Given the description of an element on the screen output the (x, y) to click on. 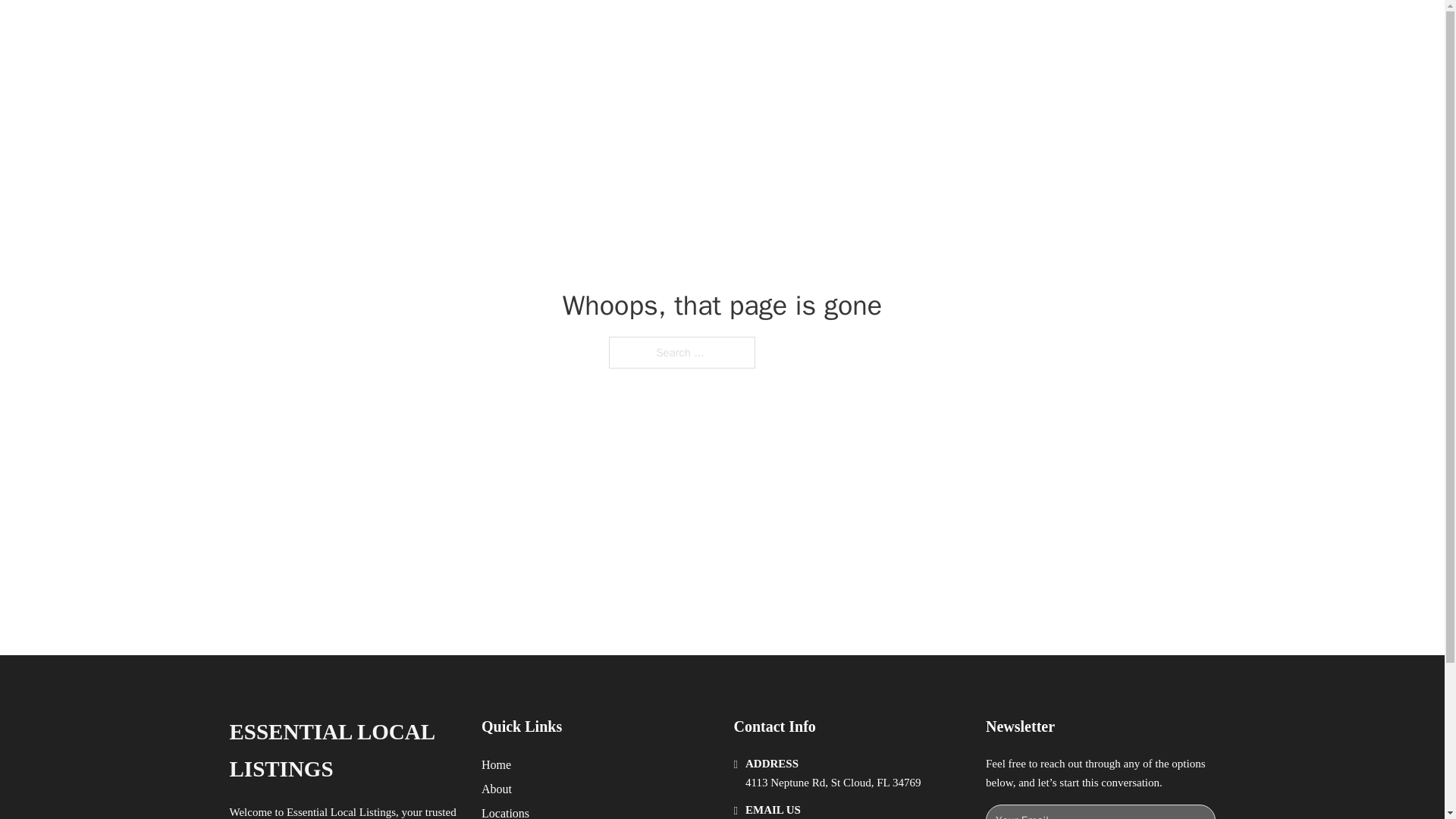
About (496, 788)
ESSENTIAL LOCAL LISTINGS (446, 28)
Locations (505, 811)
LOCATIONS (990, 29)
HOME (919, 29)
Home (496, 764)
ESSENTIAL LOCAL LISTINGS (343, 750)
